Given the description of an element on the screen output the (x, y) to click on. 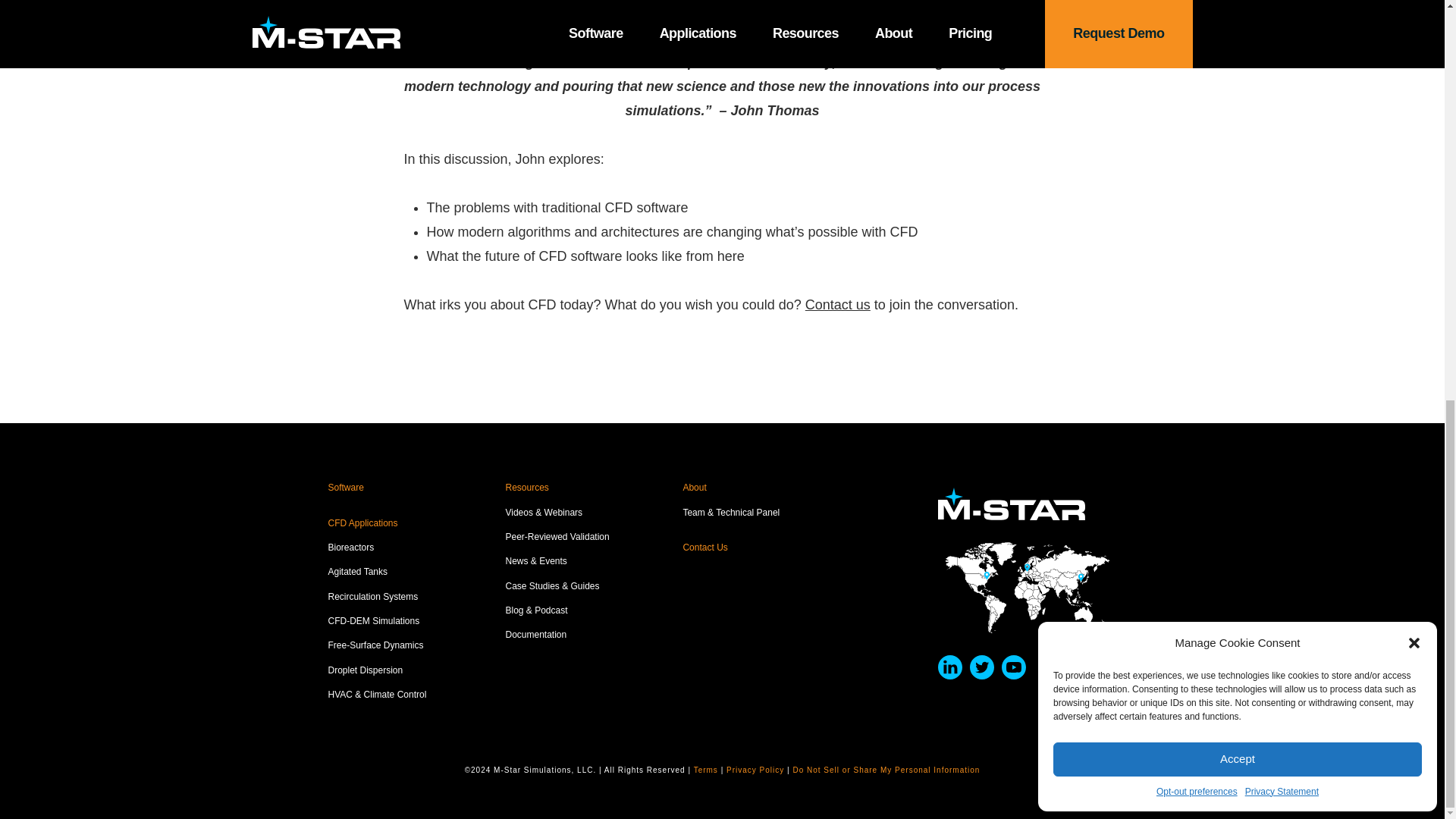
Privacy Statement (1281, 10)
Opt-out preferences (1196, 10)
